Given the description of an element on the screen output the (x, y) to click on. 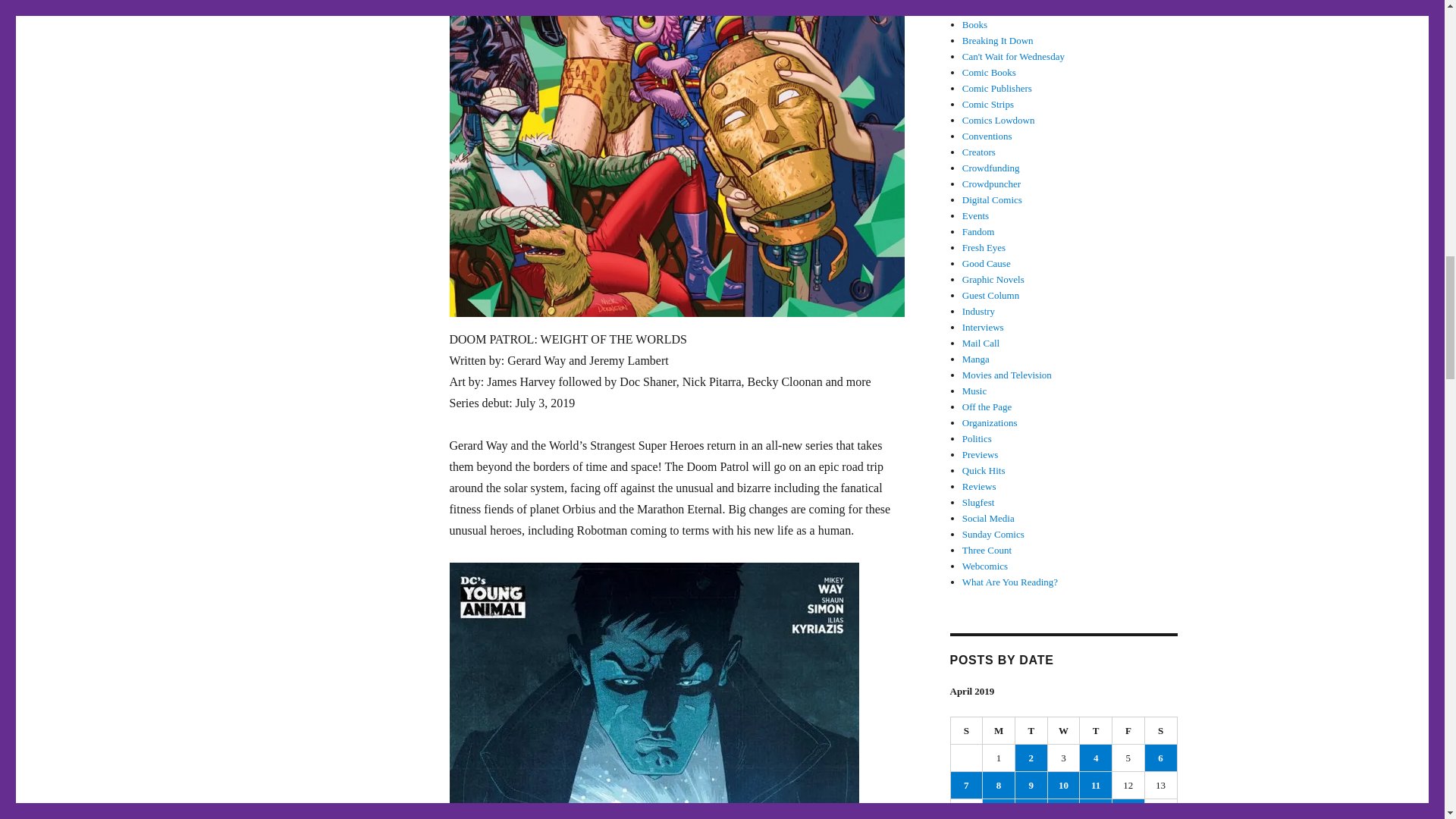
Monday (998, 730)
Friday (1128, 730)
Thursday (1096, 730)
Tuesday (1031, 730)
Wednesday (1064, 730)
Saturday (1160, 730)
Sunday (967, 730)
